Given the description of an element on the screen output the (x, y) to click on. 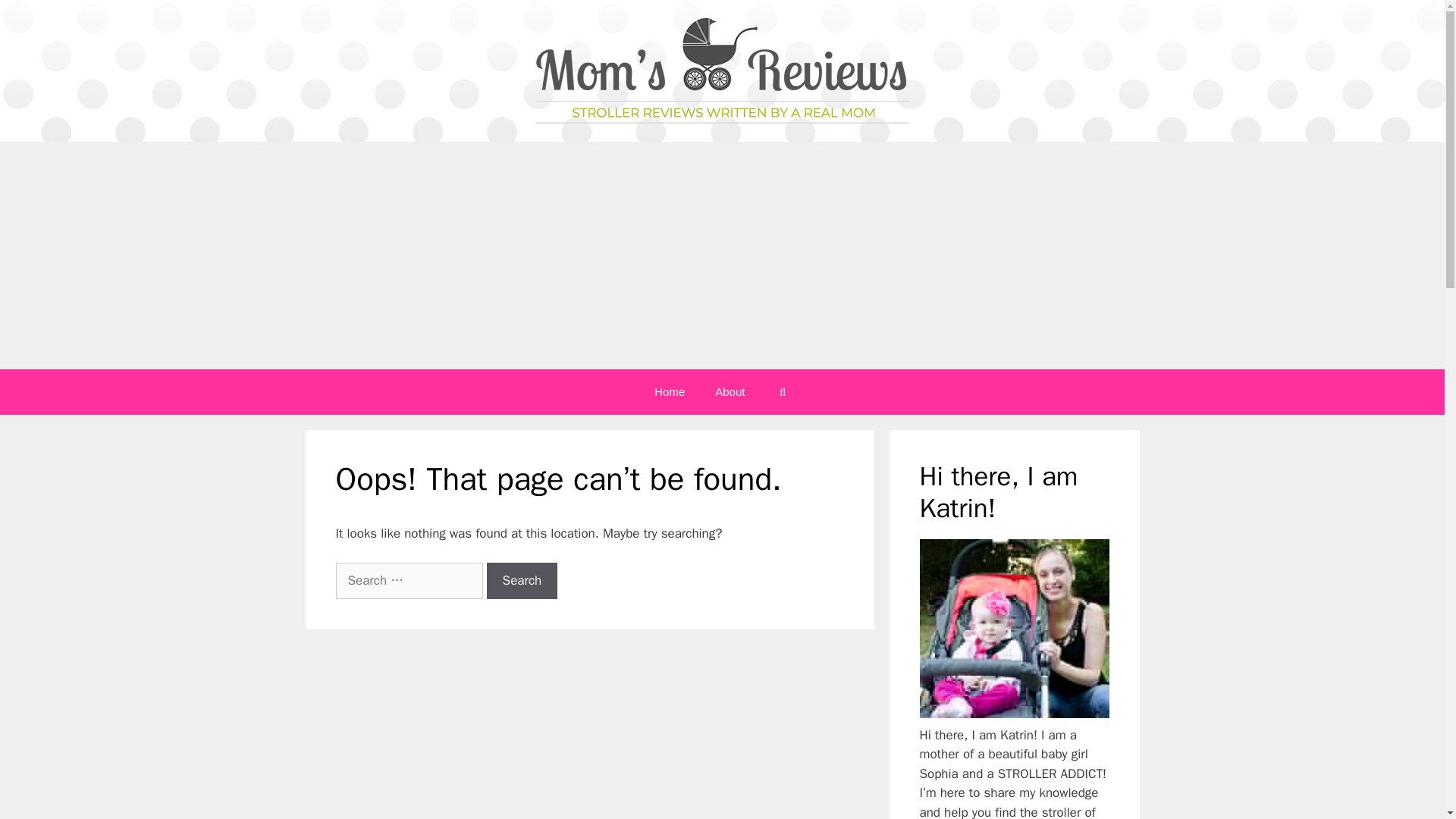
Search for: (407, 580)
Search (521, 580)
Search (521, 580)
Home (669, 391)
Search (521, 580)
About (730, 391)
